Given the description of an element on the screen output the (x, y) to click on. 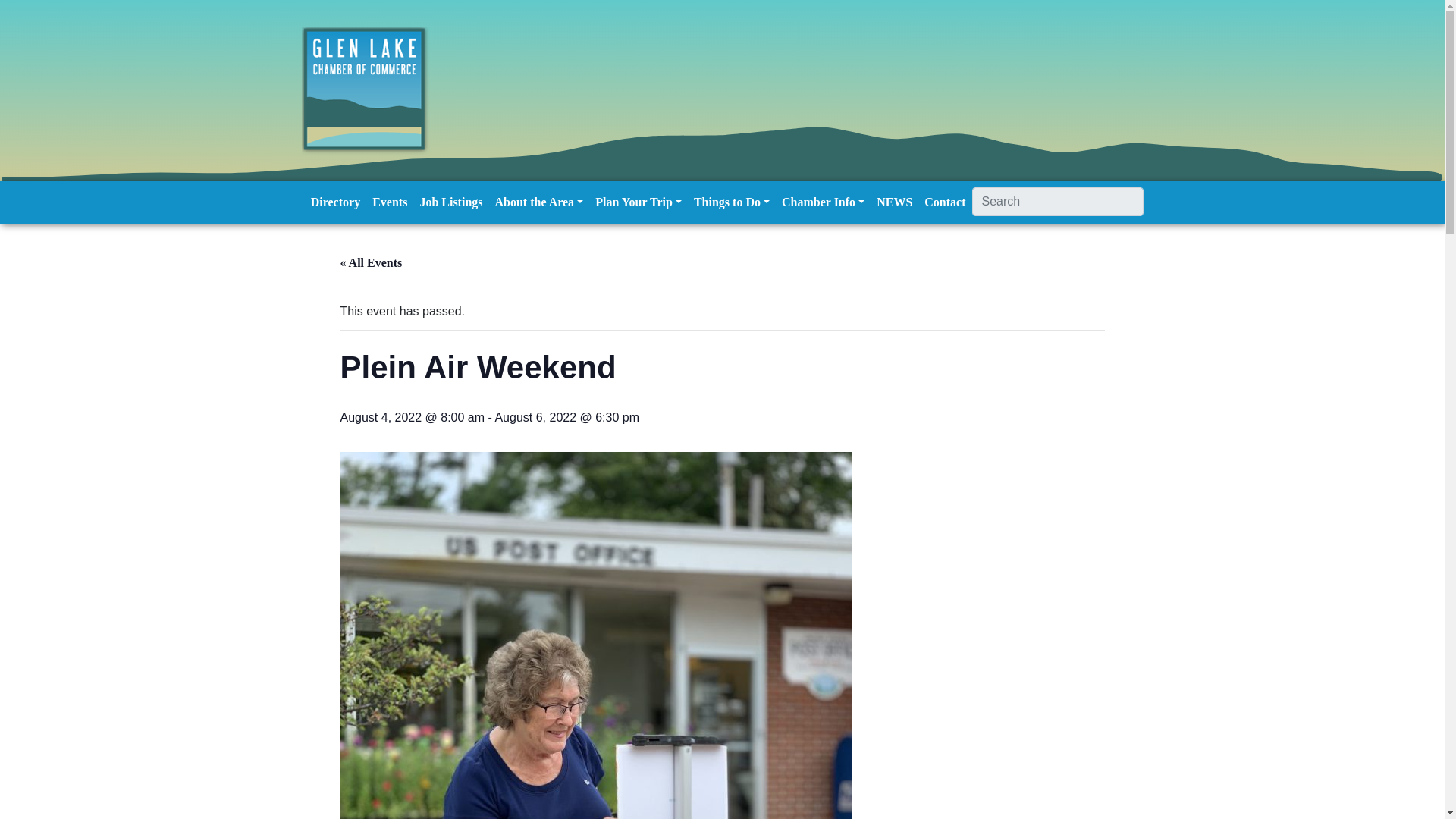
Events (389, 202)
NEWS (894, 202)
Chamber Info (823, 202)
Events (389, 202)
Directory (335, 202)
Contact (944, 202)
Job Listings (450, 202)
About the Area (539, 202)
Plan Your Trip (638, 202)
Things to Do (731, 202)
Plan Your Trip (638, 202)
Job Listings (450, 202)
About the Area (539, 202)
Directory (335, 202)
